Given the description of an element on the screen output the (x, y) to click on. 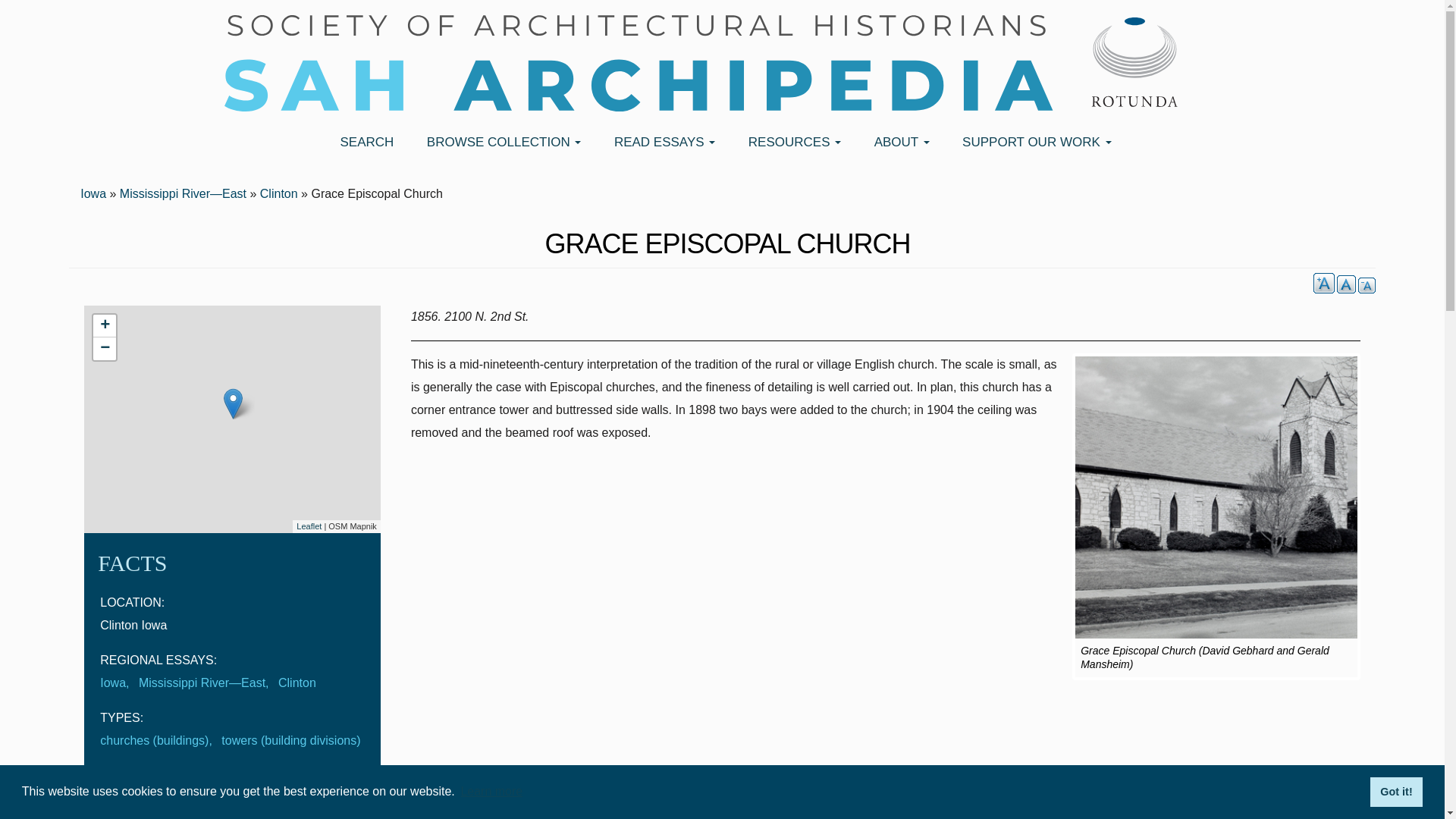
READ ESSAYS (662, 142)
SEARCH (364, 142)
A (1345, 284)
Iowa (93, 193)
Learn more (491, 791)
ABOUT (899, 142)
A (1366, 285)
Clinton (279, 193)
Got it! (1396, 791)
BROWSE COLLECTION (502, 142)
SUPPORT OUR WORK (1034, 142)
RESOURCES (792, 142)
